Given the description of an element on the screen output the (x, y) to click on. 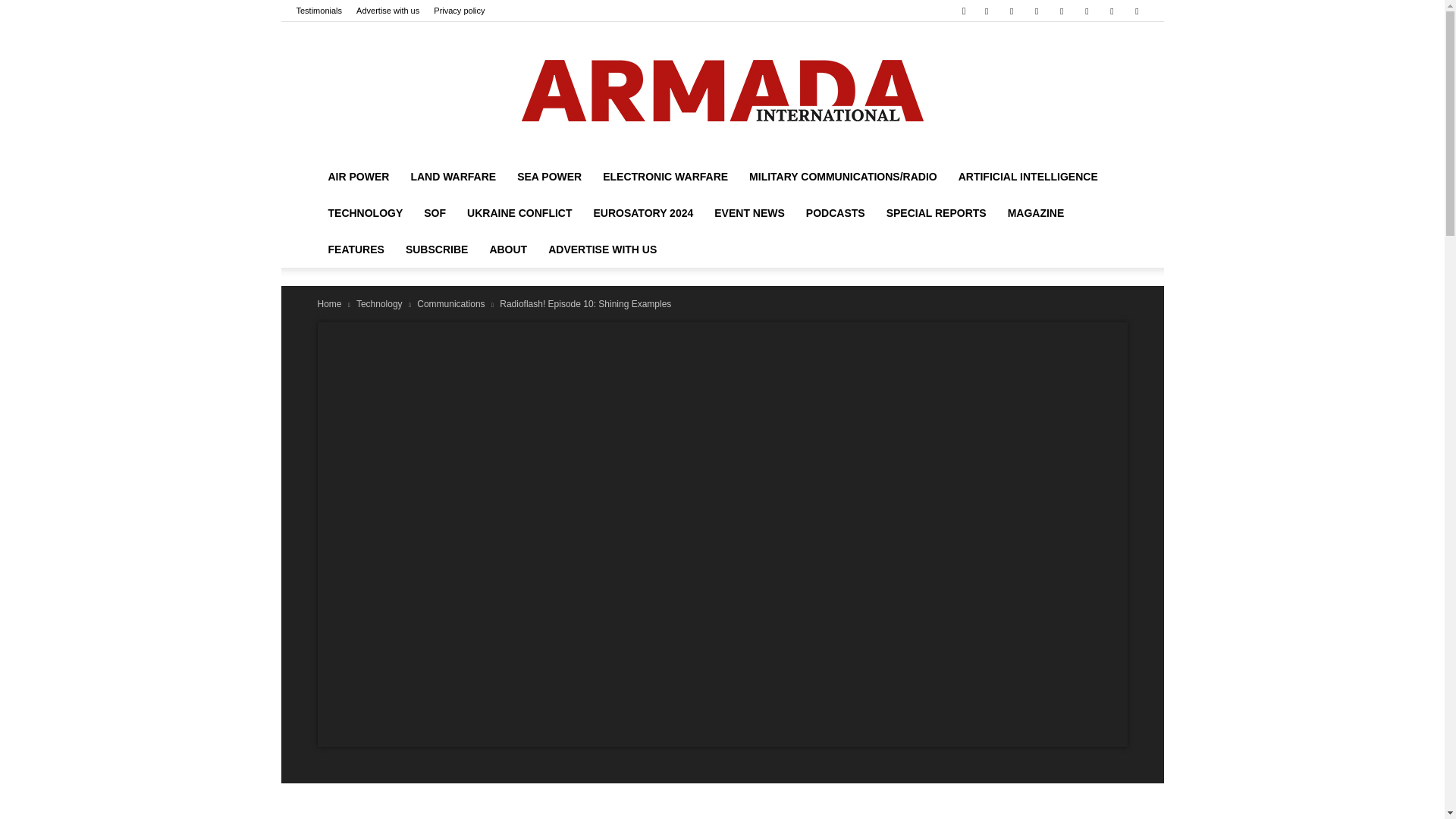
Twitter (1111, 10)
Facebook (986, 10)
RSS (1061, 10)
Linkedin (1011, 10)
Spotify (1086, 10)
Mail (1036, 10)
